Given the description of an element on the screen output the (x, y) to click on. 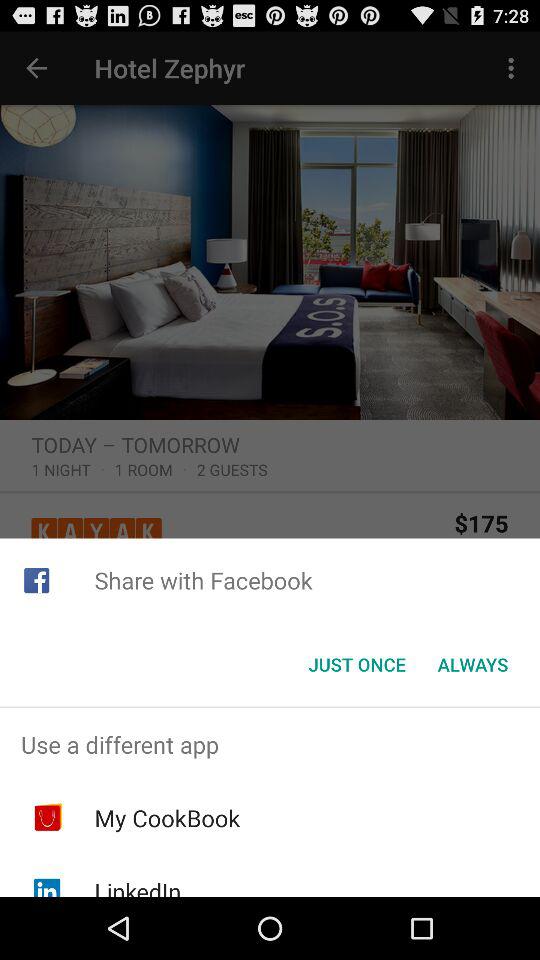
scroll until the always (472, 664)
